Given the description of an element on the screen output the (x, y) to click on. 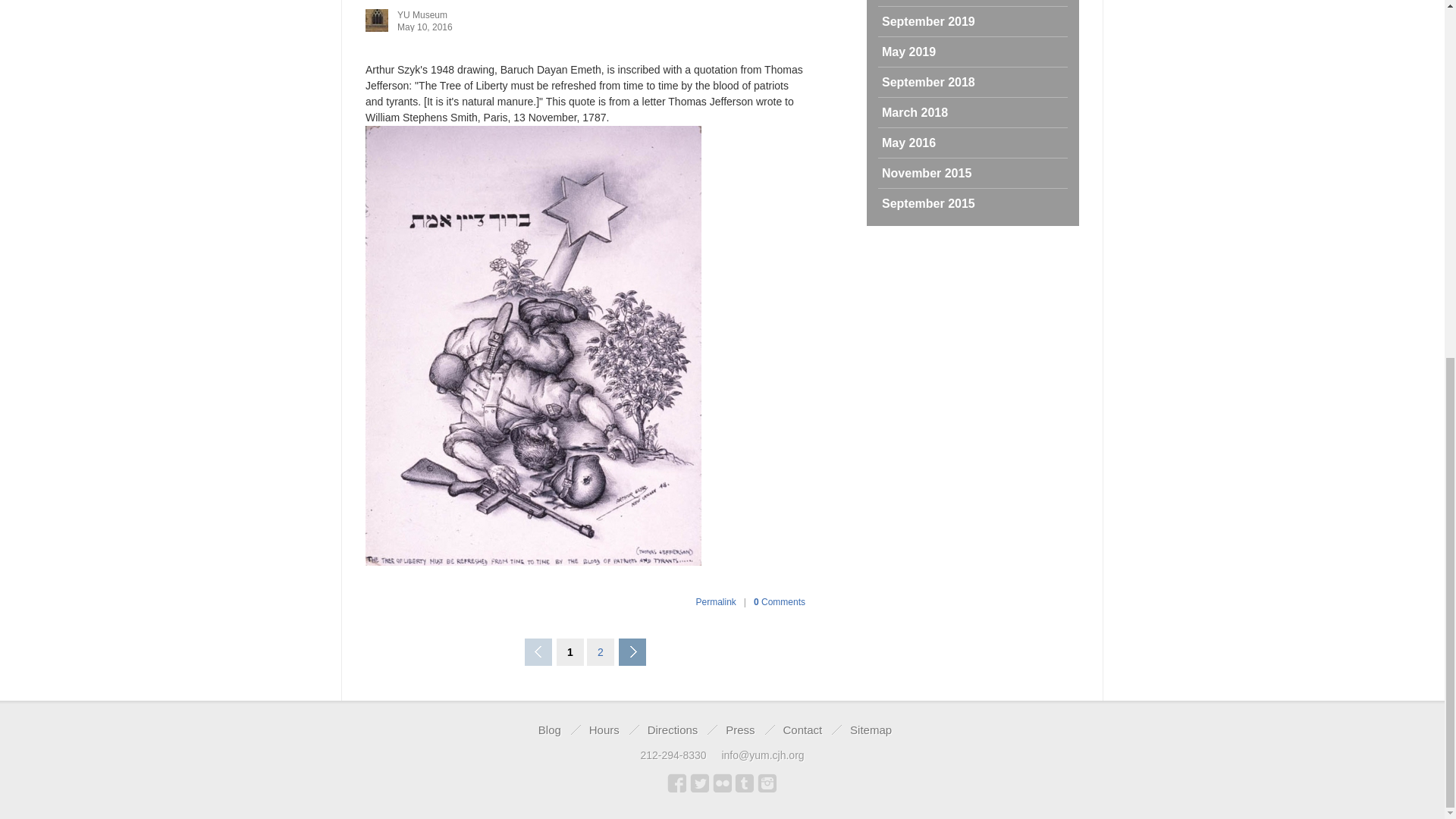
Twitter (700, 783)
Flickr (722, 783)
Instagram (767, 783)
Facebook (676, 783)
Tumblr (744, 783)
